Given the description of an element on the screen output the (x, y) to click on. 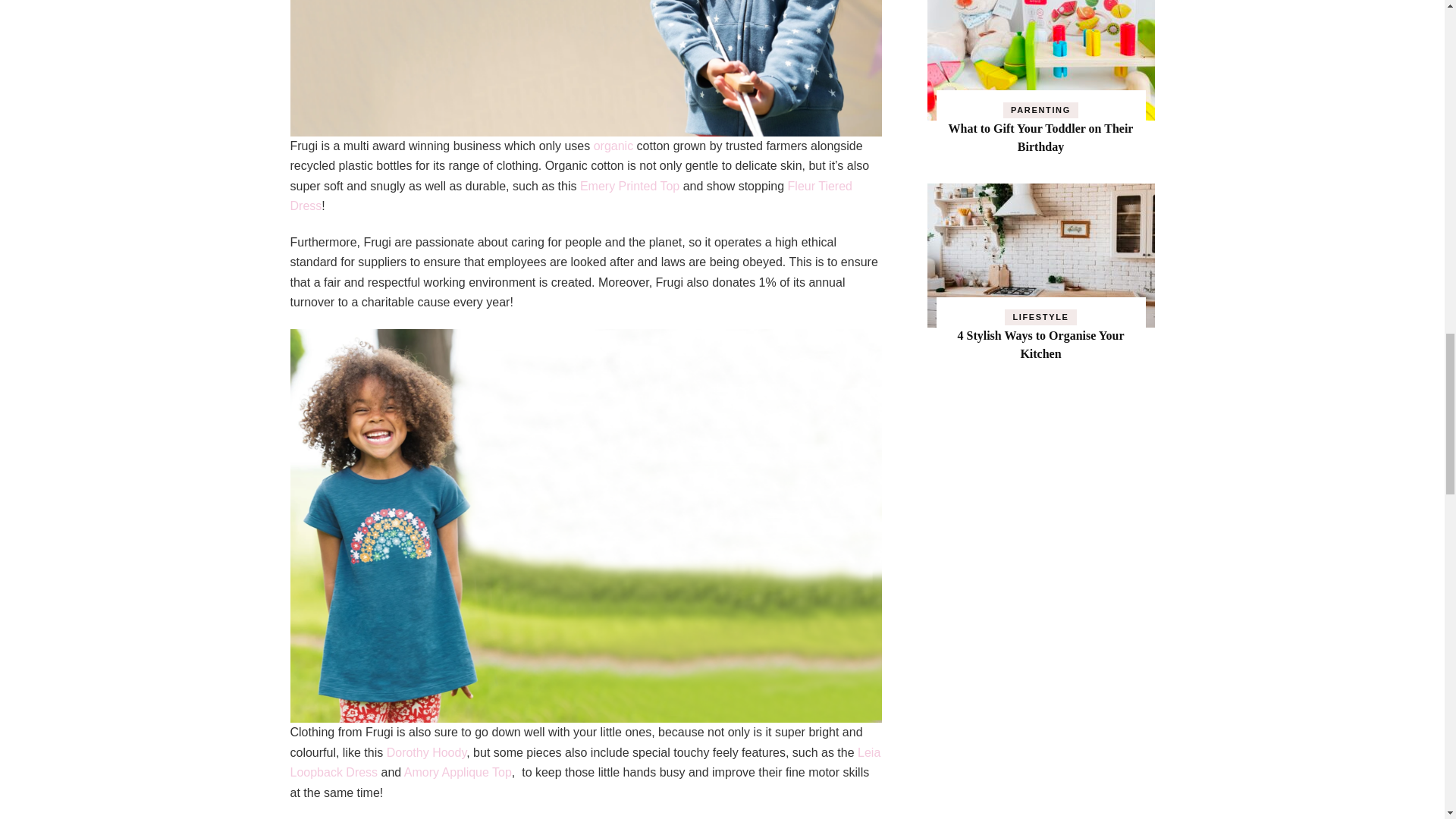
Fleur Tiered Dress (570, 195)
Amory Applique Top (458, 771)
Dorothy Hoody (427, 752)
organic (613, 145)
Emery Printed Top (629, 185)
Leia Loopback Dress (584, 762)
